Given the description of an element on the screen output the (x, y) to click on. 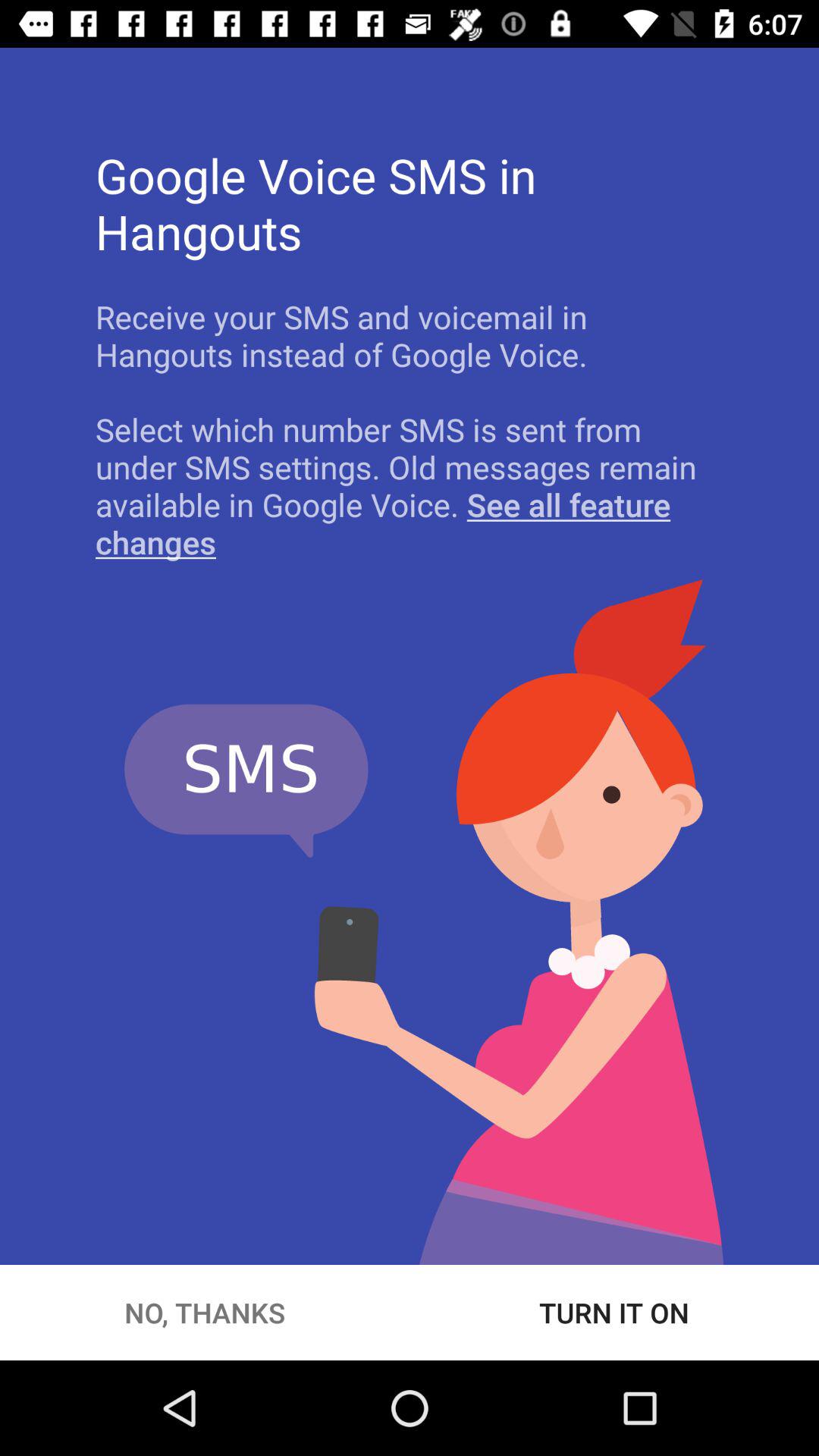
scroll until the select which number (409, 485)
